Given the description of an element on the screen output the (x, y) to click on. 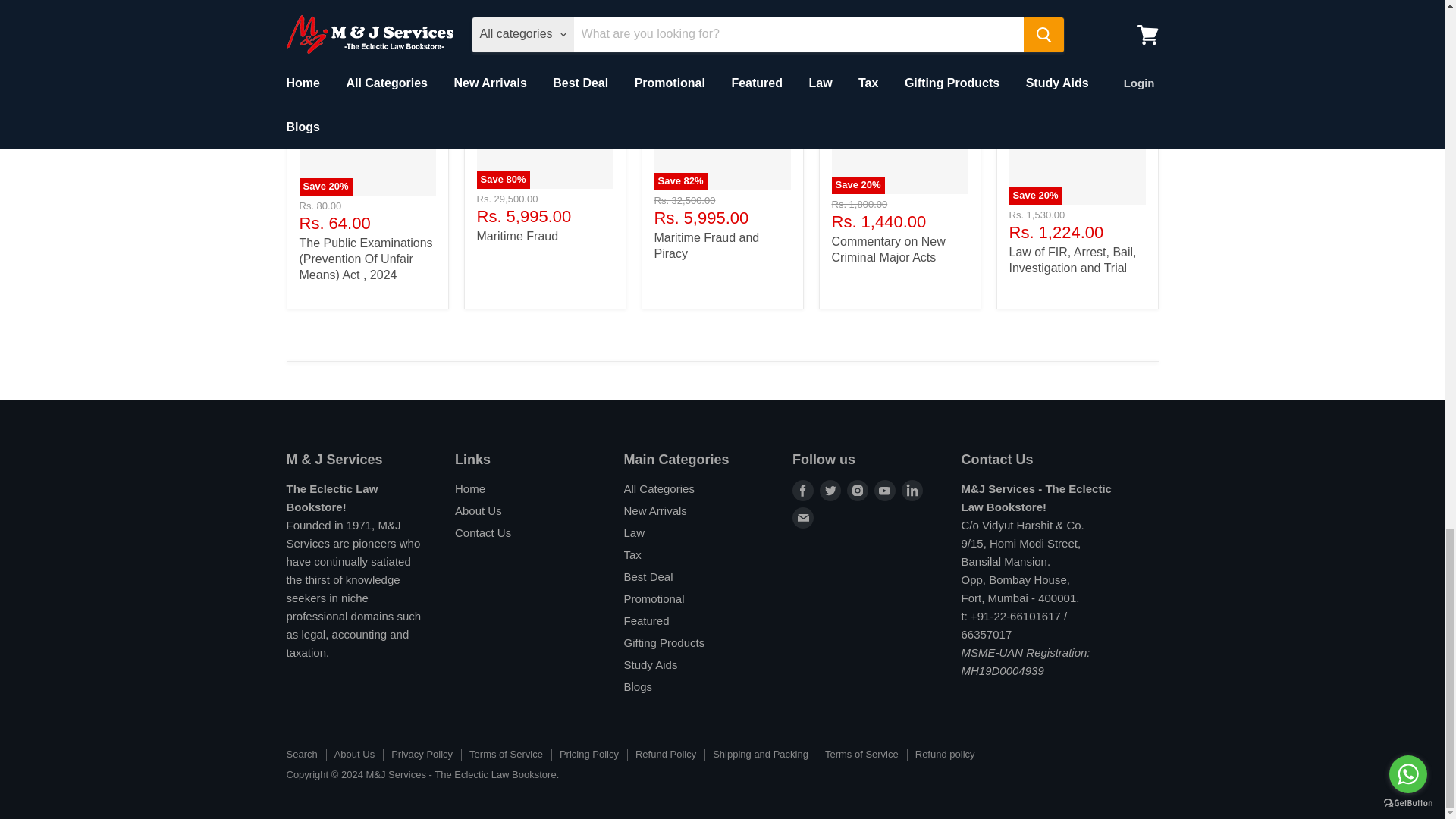
Youtube (884, 490)
LinkedIn (912, 490)
Twitter (830, 490)
Instagram (857, 490)
E-mail (802, 517)
Facebook (802, 490)
